Given the description of an element on the screen output the (x, y) to click on. 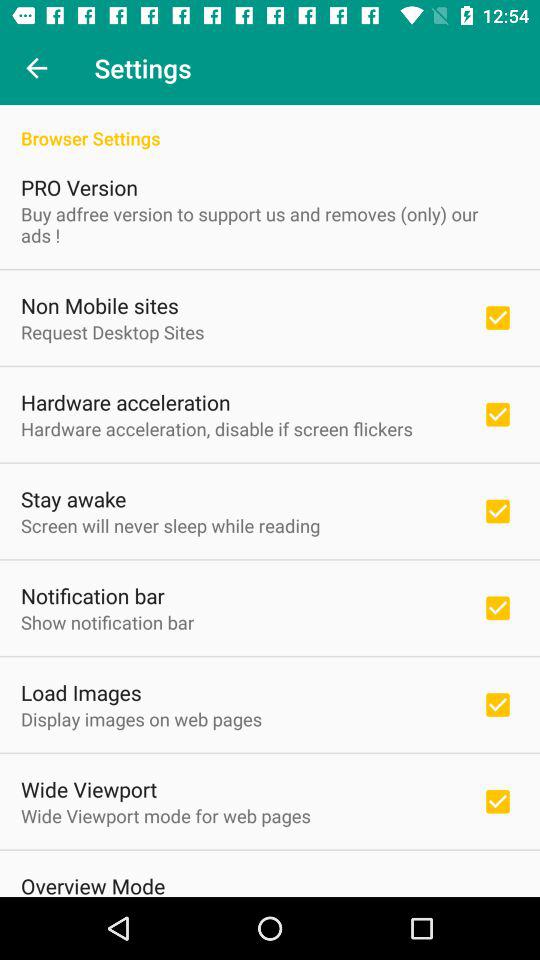
select load images (81, 692)
